Given the description of an element on the screen output the (x, y) to click on. 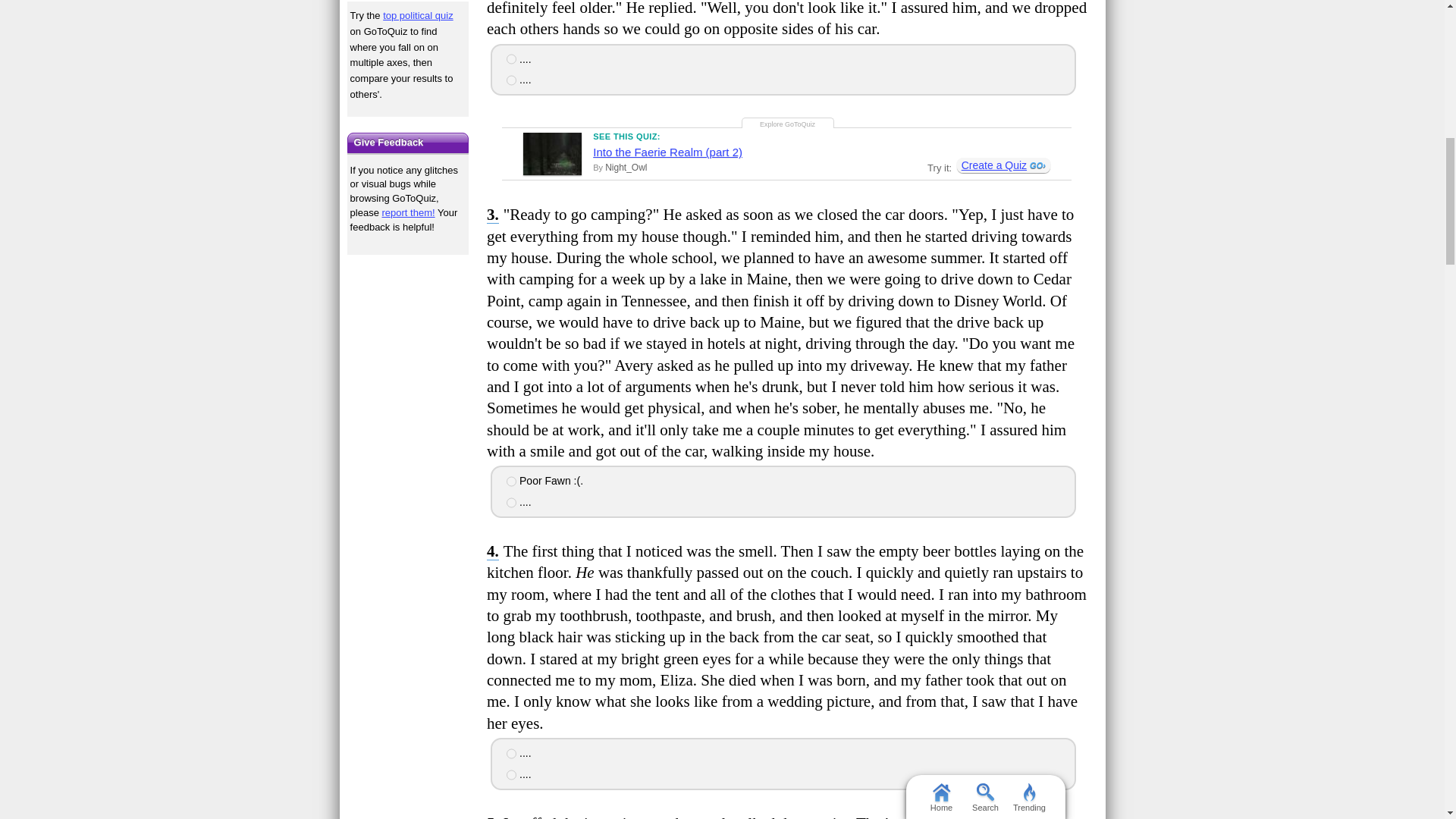
2 (511, 774)
top political quiz (417, 15)
2 (511, 502)
1 (511, 480)
Take our featured politics quiz (407, 0)
2 (511, 80)
Create a Quiz (1002, 165)
report them! (408, 212)
1 (511, 753)
1 (511, 59)
